Given the description of an element on the screen output the (x, y) to click on. 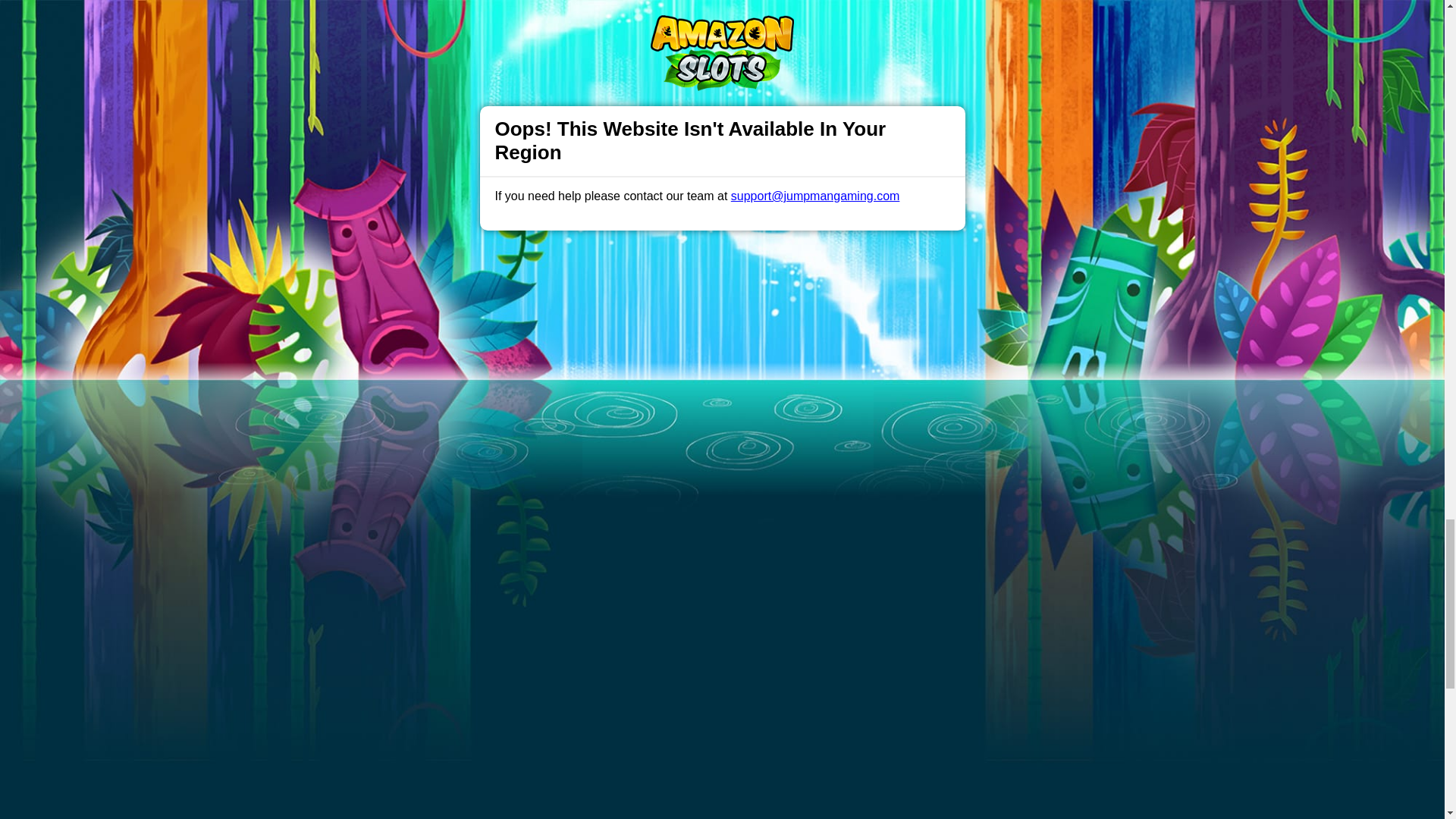
Aztec Wilds Megaways (672, 532)
megaways slots (617, 174)
5 Lions Megaways (443, 593)
Gods Of Asgard Megaways (899, 593)
Fury of Odin Megaways (891, 562)
Fluffy Favourites Megaways (901, 532)
Play 1 Million Megaways Slot (722, 39)
Big Buffalo Megaways (670, 562)
1 Million Megaways (446, 532)
Chilli Heat Megaways (668, 593)
8 Tigers Gold Megaways (457, 623)
10,001 Nights MegaWays (459, 562)
Aztec Wilds Megaways (672, 532)
Fluffy Favourites Megaways (901, 532)
megaways (617, 174)
